Given the description of an element on the screen output the (x, y) to click on. 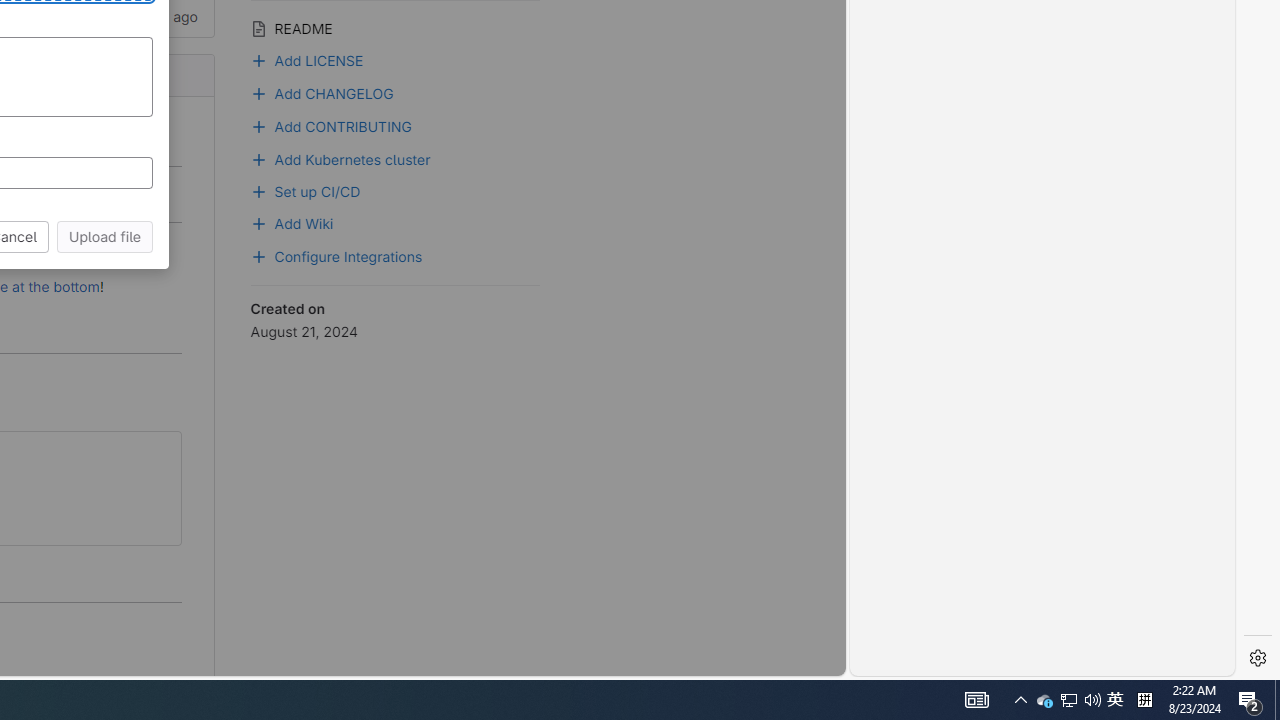
Add LICENSE (395, 59)
Class: btn btn-default btn-md gl-button btn-icon has-tooltip (158, 453)
Class: s16 icon gl-mr-3 gl-text-gray-500 (258, 28)
Class: s16 gl-text-blue-500! gl-mr-3 (258, 126)
Add Kubernetes cluster (395, 158)
Set up CI/CD (395, 189)
Set up CI/CD (305, 189)
Add CHANGELOG (395, 92)
README (395, 26)
Add CHANGELOG (322, 91)
Upload file (105, 236)
Add CONTRIBUTING (395, 124)
Add LICENSE (307, 58)
Add Kubernetes cluster (340, 158)
